Given the description of an element on the screen output the (x, y) to click on. 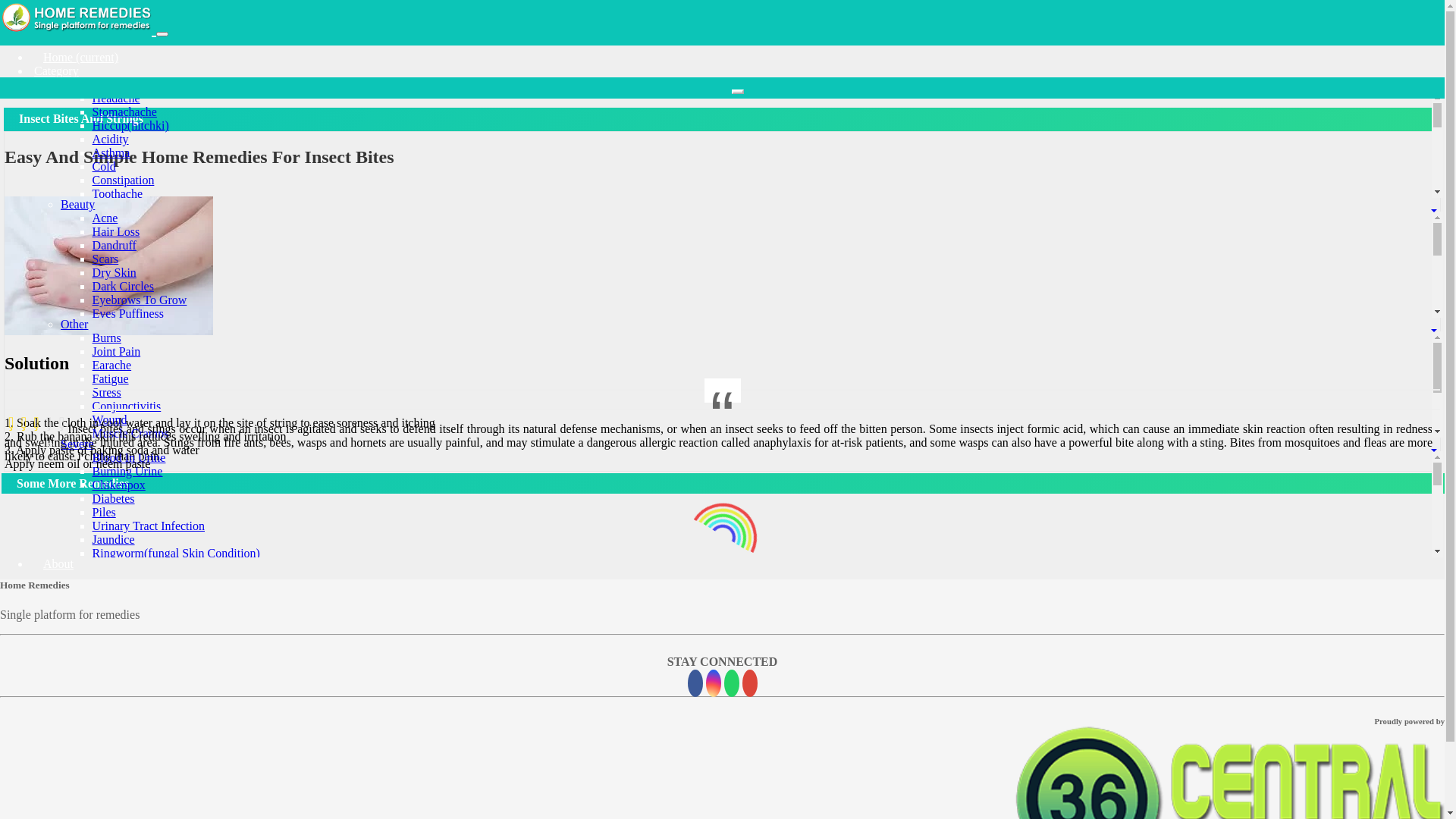
Headache Element type: text (116, 97)
Dark Circles Element type: text (122, 285)
Cough Element type: text (108, 220)
Dark Inner Thighs Element type: text (137, 435)
Severe Element type: text (77, 443)
Fatigue Element type: text (110, 378)
Diaper Rash Element type: text (122, 439)
Impotence Element type: text (118, 689)
Joint Pain Element type: text (116, 351)
Split Ends Element type: text (117, 395)
Kidney Stone Element type: text (125, 648)
Constipation Element type: text (123, 179)
Category Element type: text (56, 70)
Over Weight Element type: text (123, 288)
Scars Element type: text (105, 258)
About Element type: text (53, 563)
Tanning Element type: text (111, 422)
Home (current) Element type: text (76, 56)
Common Element type: text (83, 84)
Urinary Tract Infection Element type: text (148, 525)
Hepatitis Element type: text (114, 716)
Peptic Ulcer Element type: text (122, 607)
Hair Loss Element type: text (116, 231)
Burns Element type: text (106, 337)
Leucoderma Element type: text (122, 621)
Pretty good - 4 stars Element type: hover (48, 422)
Piles Element type: text (104, 511)
Menstrual Cramps Element type: text (137, 234)
Toothache Element type: text (117, 193)
Asthma Element type: text (111, 152)
Migrain Element type: text (111, 247)
Conjunctivitis Element type: text (126, 405)
Obesity Element type: text (111, 370)
Fever Element type: text (105, 206)
Yellowish Teeth Element type: text (131, 340)
Face Cleanser Element type: text (126, 476)
Jaundice Element type: text (113, 539)
High Blood Pressure Element type: text (142, 425)
Eyes Puffiness Element type: text (127, 313)
Indigestion Element type: text (119, 261)
Jet Lag Element type: text (110, 757)
Head Lice Element type: text (117, 408)
Mouth Ulcer Element type: text (123, 743)
Malaria Element type: text (111, 634)
Awesome - 5 stars Element type: hover (61, 422)
Stomachache Element type: text (124, 111)
Gout Element type: text (104, 784)
Measles Element type: text (111, 384)
Meh - 3 stars Element type: hover (35, 422)
Yeast Infection Element type: text (129, 580)
Itching Element type: text (109, 446)
Beauty Element type: text (77, 203)
Body Odor Element type: text (119, 452)
Cold Element type: text (104, 166)
Filaria Element type: text (108, 702)
Gingivitis Element type: text (116, 798)
Nausea And Vomiting Element type: text (145, 343)
Flu Element type: text (100, 460)
Fair Hands And Feet Element type: text (142, 449)
Gastric Element type: text (109, 275)
Earache Element type: text (111, 364)
Acne Element type: text (105, 217)
Wound Element type: text (109, 419)
Muscle Cramps Element type: text (130, 432)
Cholestrol Element type: text (117, 473)
Dry Skin Element type: text (114, 272)
Eyebrows To Grow Element type: text (139, 299)
Sunburn Element type: text (112, 487)
Sore Throat Element type: text (121, 316)
Sinusitis Element type: text (113, 357)
Blackheads On Nose Element type: text (143, 326)
Bronchitis Element type: text (117, 730)
Other Element type: text (73, 323)
Hay Fever Element type: text (117, 771)
Prickly Heat Element type: text (122, 354)
Blood In Urine Element type: text (129, 457)
Insomnia Element type: text (115, 329)
Burning Urine Element type: text (127, 470)
Menopausal Disorder Element type: text (144, 566)
Hiccup(hitchki) Element type: text (130, 125)
Stress Element type: text (106, 391)
Intestinal Worms Element type: text (133, 661)
Diabetes Element type: text (113, 498)
Stye Element type: text (102, 398)
Sucks big time - 1 star Element type: hover (10, 422)
Kinda bad - 2 stars Element type: hover (23, 422)
Warts Element type: text (106, 381)
Stretch Marks Element type: text (126, 367)
Diarrhea Element type: text (113, 302)
Mumps Element type: text (110, 593)
Acidity Element type: text (110, 138)
Backache Element type: text (115, 411)
Dandruff Element type: text (114, 244)
Ringworm(fungal Skin Condition) Element type: text (176, 552)
Chikenpox Element type: text (118, 484)
Face Scrubber Element type: text (127, 463)
Insect Bites And Strings Element type: text (151, 501)
Infertility Element type: text (115, 675)
